Given the description of an element on the screen output the (x, y) to click on. 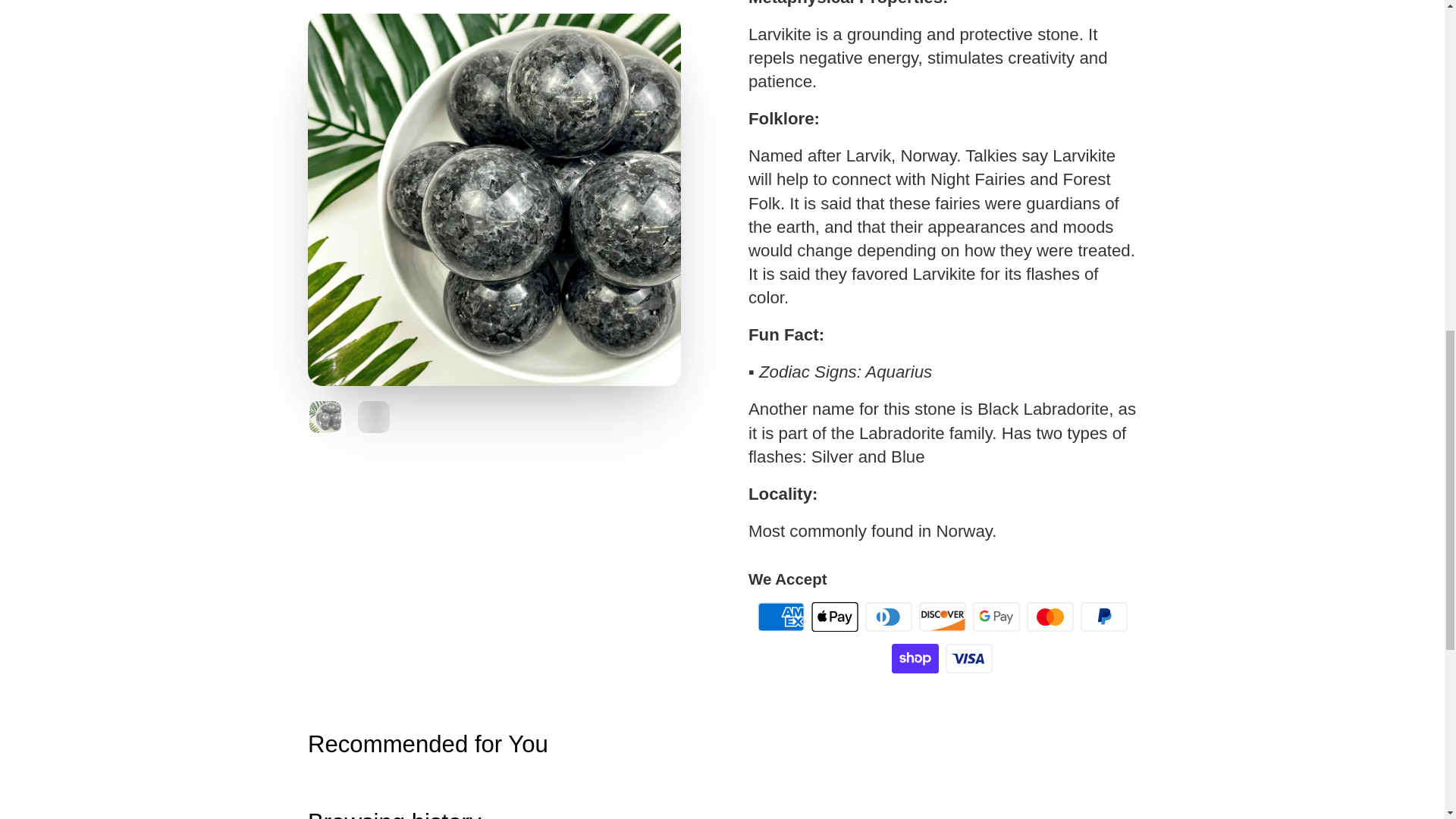
Google Pay (996, 616)
Discover (942, 616)
PayPal (1104, 616)
Diners Club (888, 616)
American Express (781, 616)
Visa (968, 658)
Shop Pay (915, 658)
Apple Pay (834, 616)
Mastercard (1050, 616)
